Given the description of an element on the screen output the (x, y) to click on. 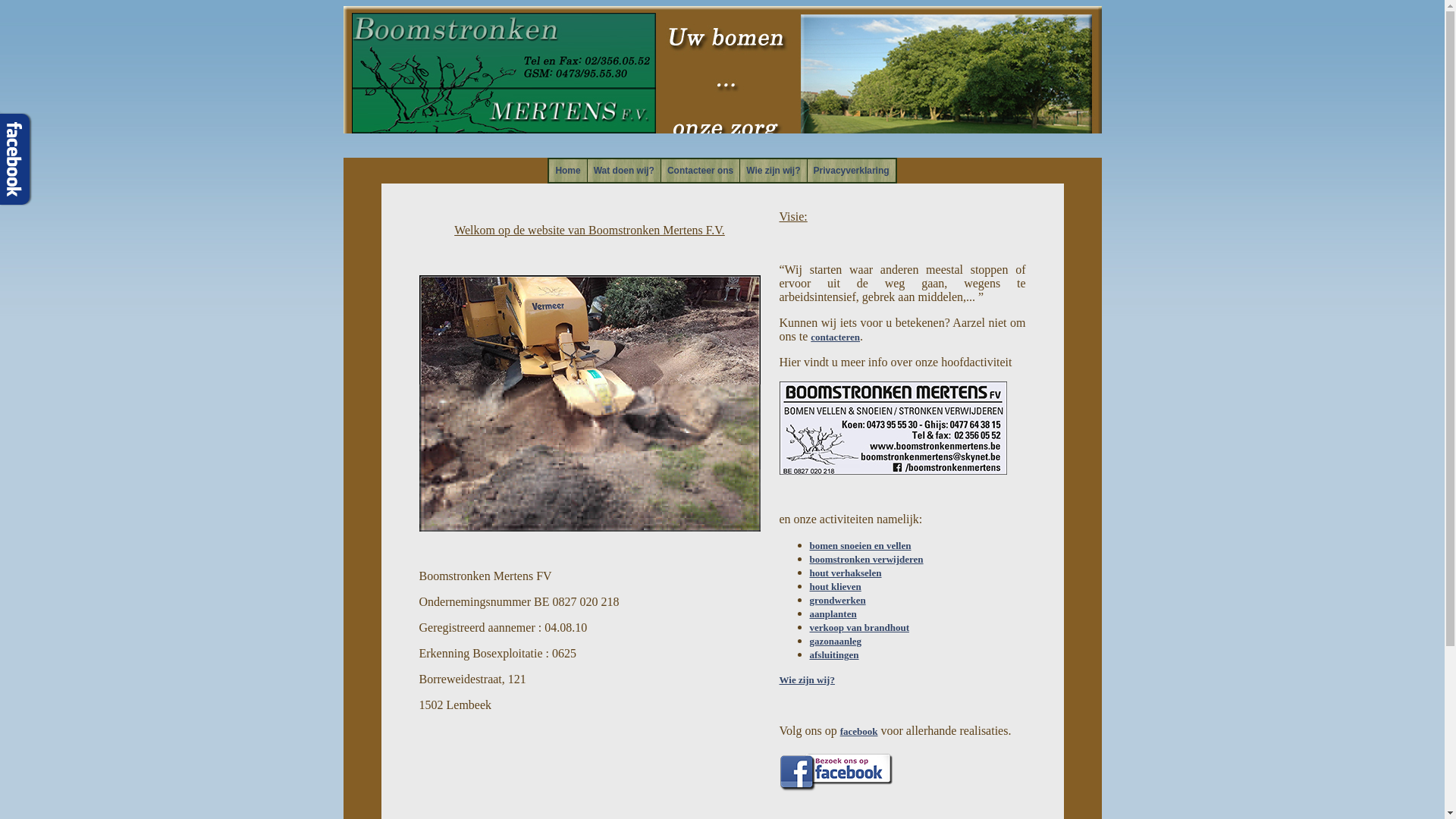
aanplanten Element type: text (832, 613)
Privacyverklaring Element type: text (851, 170)
Wat doen wij? Element type: text (623, 170)
Wie zijn wij? Element type: text (773, 170)
verkoop van brandhout Element type: text (859, 627)
bomen snoeien en vellen Element type: text (860, 545)
grondwerken Element type: text (837, 599)
facebook Element type: text (859, 731)
Contacteer ons Element type: text (700, 170)
gazonaanleg Element type: text (835, 640)
hout verhakselen Element type: text (845, 572)
contacteren Element type: text (834, 336)
Wie zijn wij? Element type: text (806, 679)
afsluitingen Element type: text (834, 654)
Home Element type: text (567, 170)
boomstronken verwijderen Element type: text (866, 558)
hout klieven Element type: text (835, 586)
